Given the description of an element on the screen output the (x, y) to click on. 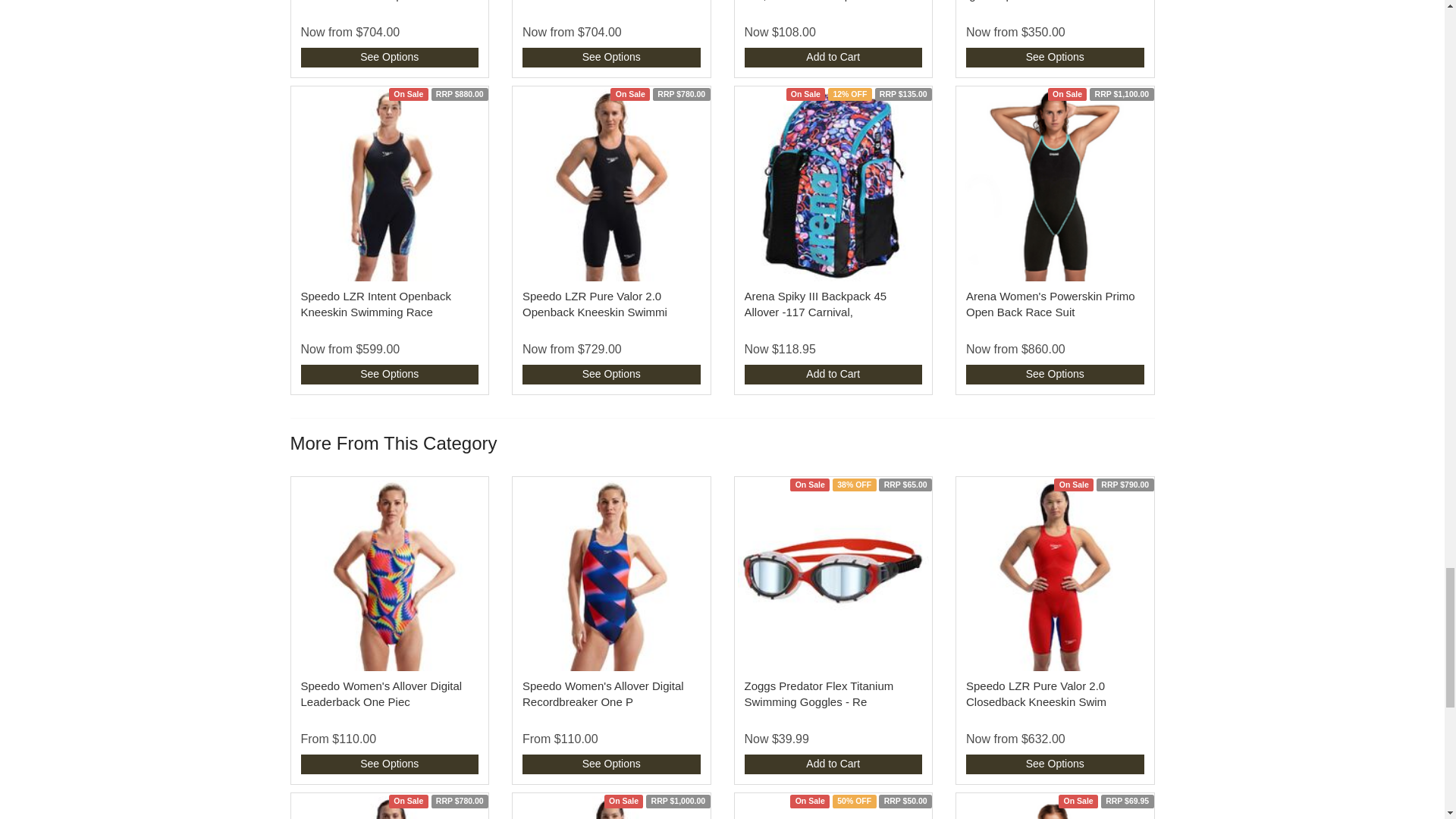
Buying Options (1055, 57)
Add to Cart (833, 57)
Buying Options (611, 57)
Add to Cart (833, 374)
Buying Options (389, 374)
Buying Options (611, 374)
Buying Options (389, 57)
